Given the description of an element on the screen output the (x, y) to click on. 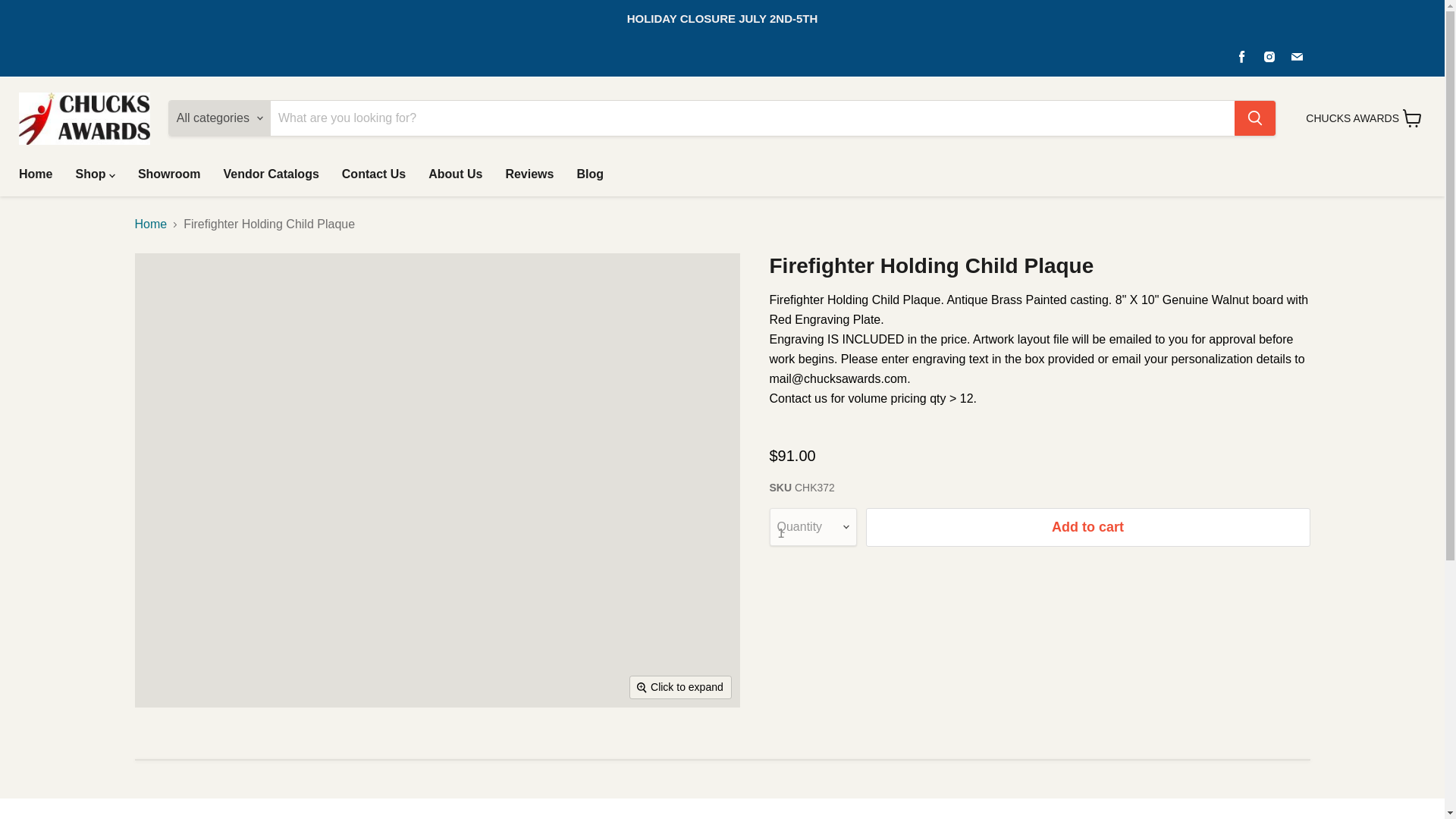
Find us on Instagram (1269, 55)
View cart (1411, 118)
Find us on Email (1296, 55)
Home (35, 174)
Email (1296, 55)
Facebook (1241, 55)
Find us on Facebook (1241, 55)
Instagram (1269, 55)
